Given the description of an element on the screen output the (x, y) to click on. 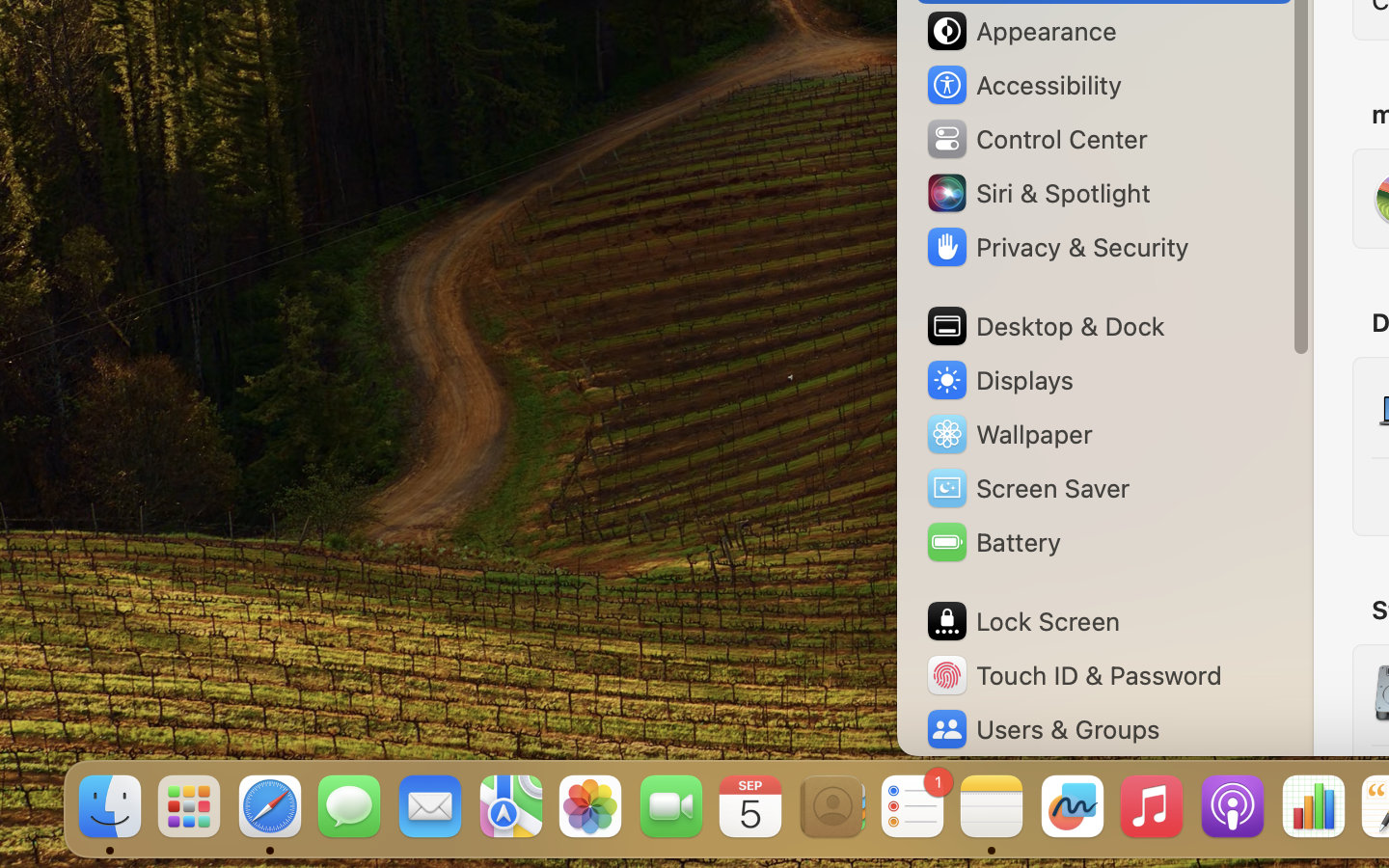
Accessibility Element type: AXStaticText (1023, 84)
Displays Element type: AXStaticText (999, 379)
Battery Element type: AXStaticText (992, 541)
Touch ID & Password Element type: AXStaticText (1073, 674)
Screen Saver Element type: AXStaticText (1027, 487)
